Given the description of an element on the screen output the (x, y) to click on. 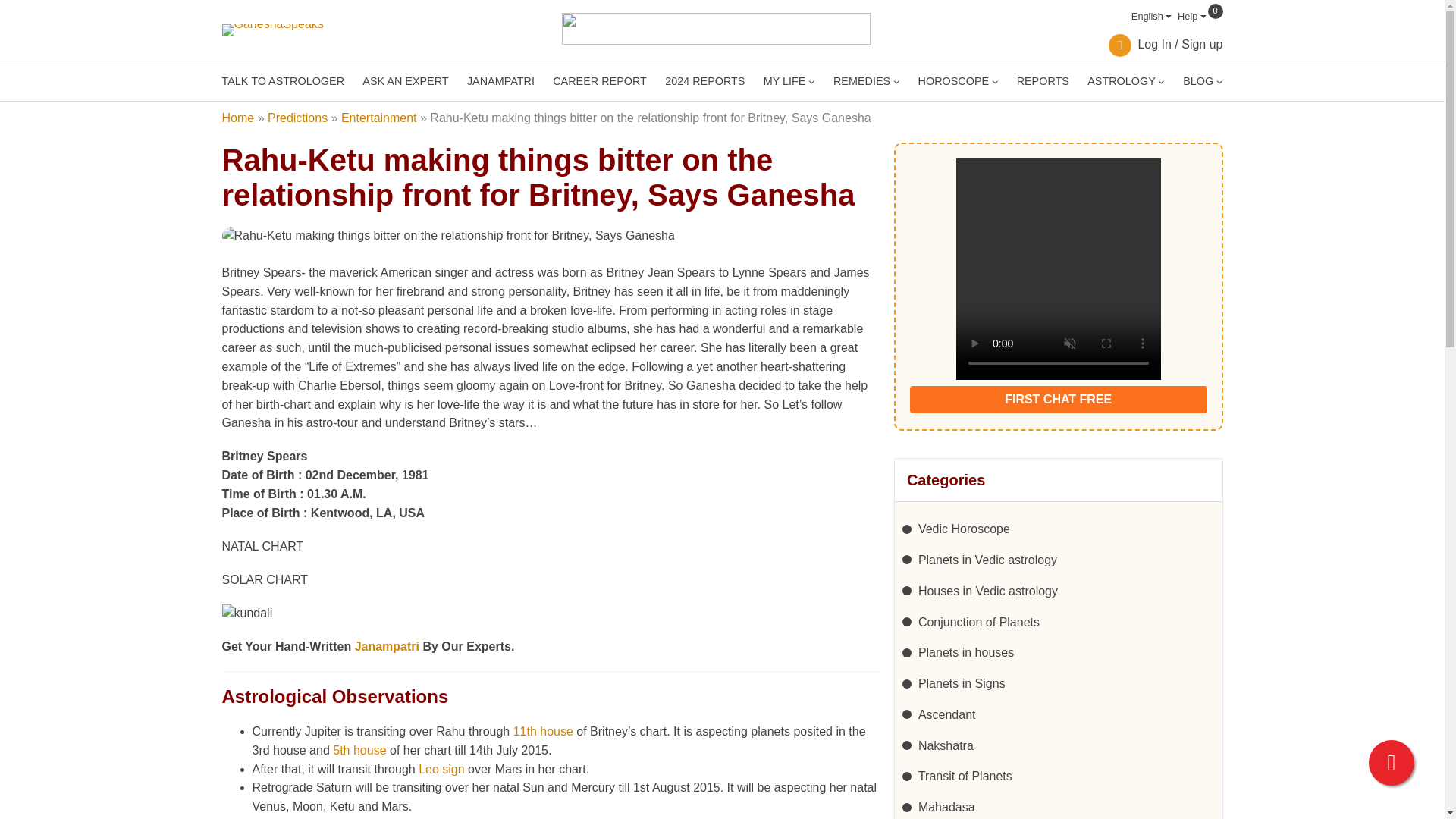
TALK TO ASTROLOGER (282, 80)
English (1148, 16)
JANAMPATRI (500, 80)
ASK AN EXPERT (405, 80)
Help (1189, 16)
MY LIFE (784, 80)
kundali (246, 613)
2024 REPORTS (704, 80)
CAREER REPORT (599, 80)
